Given the description of an element on the screen output the (x, y) to click on. 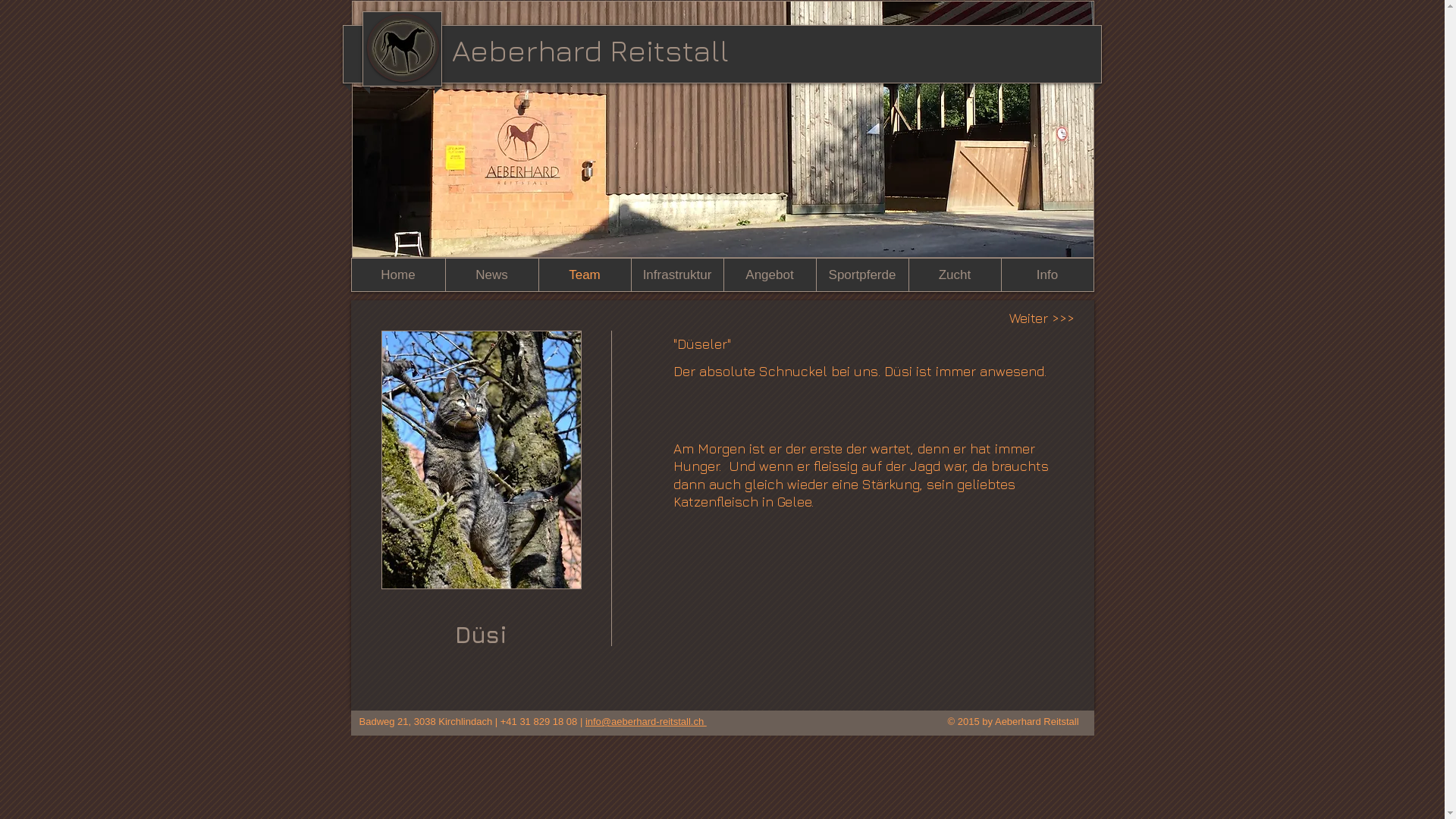
Weiter >>> Element type: text (1041, 318)
Home Element type: text (398, 274)
Sportpferde Element type: text (861, 274)
Zucht Element type: text (954, 274)
Team Element type: text (584, 274)
Angebot Element type: text (769, 274)
News Element type: text (490, 274)
info@aeberhard-reitstall.ch  Element type: text (645, 721)
IMG_2281.JPG Element type: hover (480, 459)
Info Element type: text (1047, 274)
Infrastruktur Element type: text (676, 274)
logo.jpg Element type: hover (403, 47)
